Given the description of an element on the screen output the (x, y) to click on. 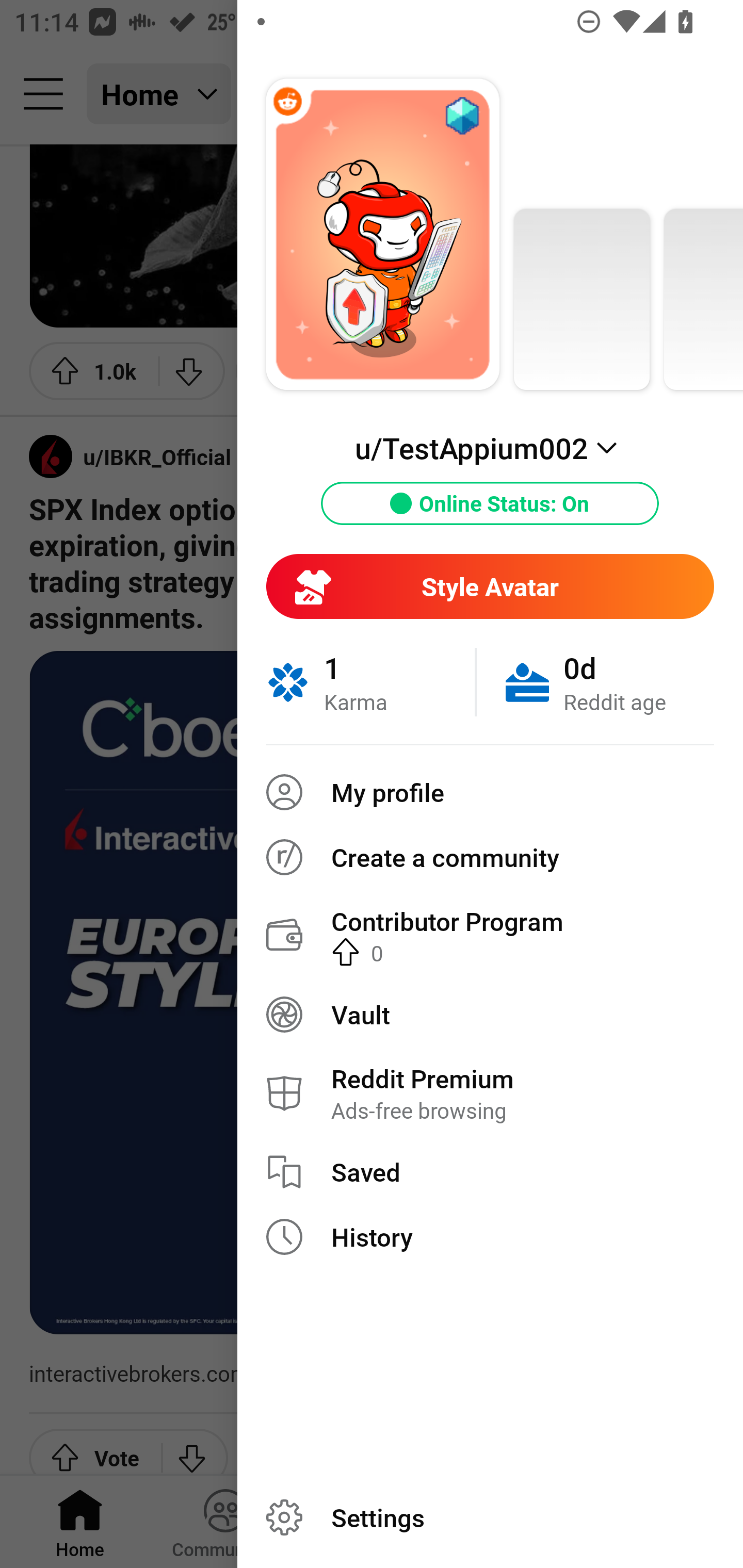
u/TestAppium002 (489, 447)
Online Status: On (489, 503)
Style Avatar (489, 586)
1 Karma 1 Karma (369, 681)
My profile (490, 792)
Create a community (490, 856)
Contributor Program Contributor Program 0 (490, 935)
Vault (490, 1014)
Saved (490, 1171)
History (490, 1237)
Settings (490, 1517)
